Given the description of an element on the screen output the (x, y) to click on. 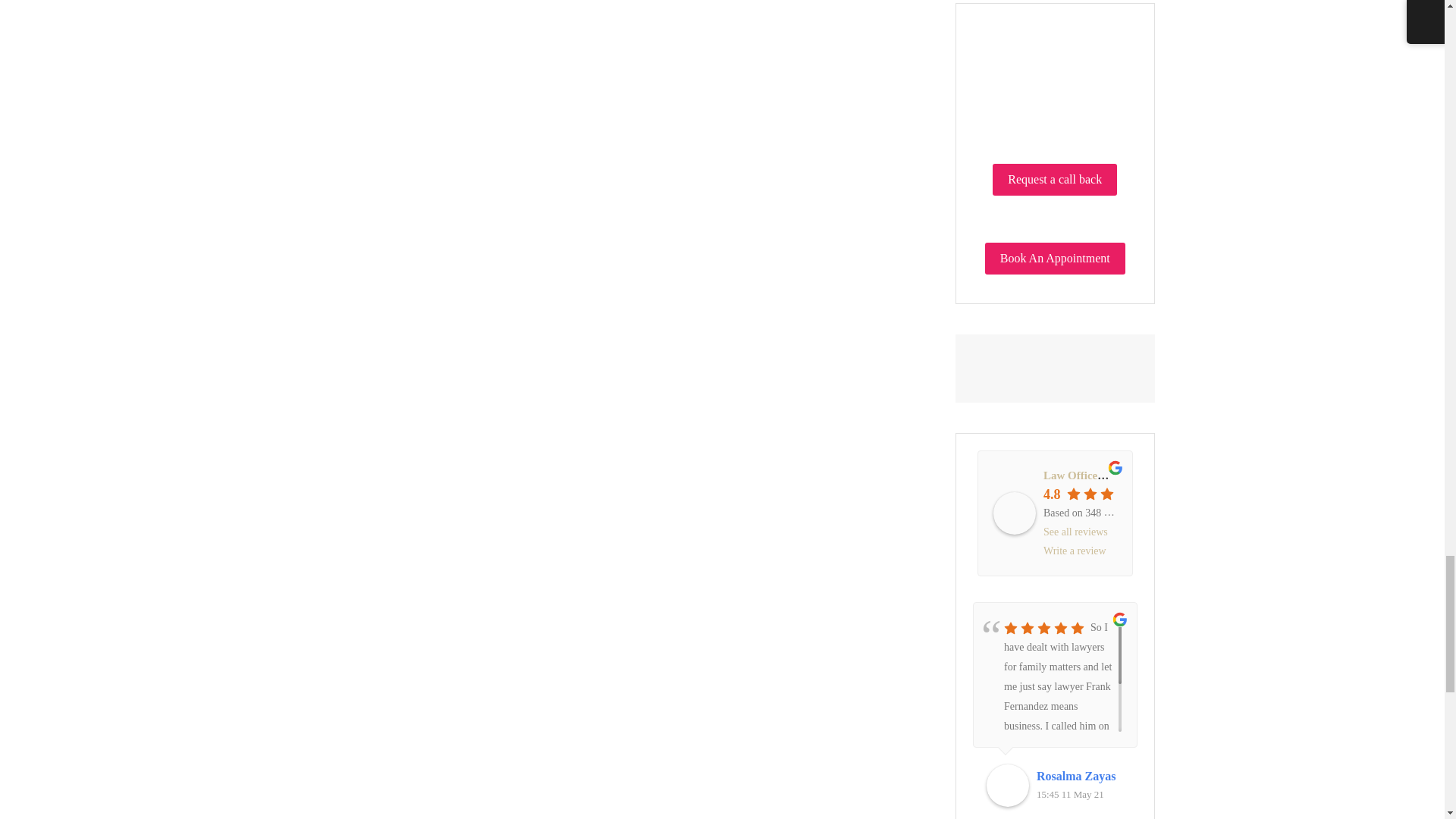
Rosalma Zayas (1008, 785)
Rosalma Zayas (1080, 776)
Law Office Of Frank Fernandez, Esq. (1013, 513)
